Given the description of an element on the screen output the (x, y) to click on. 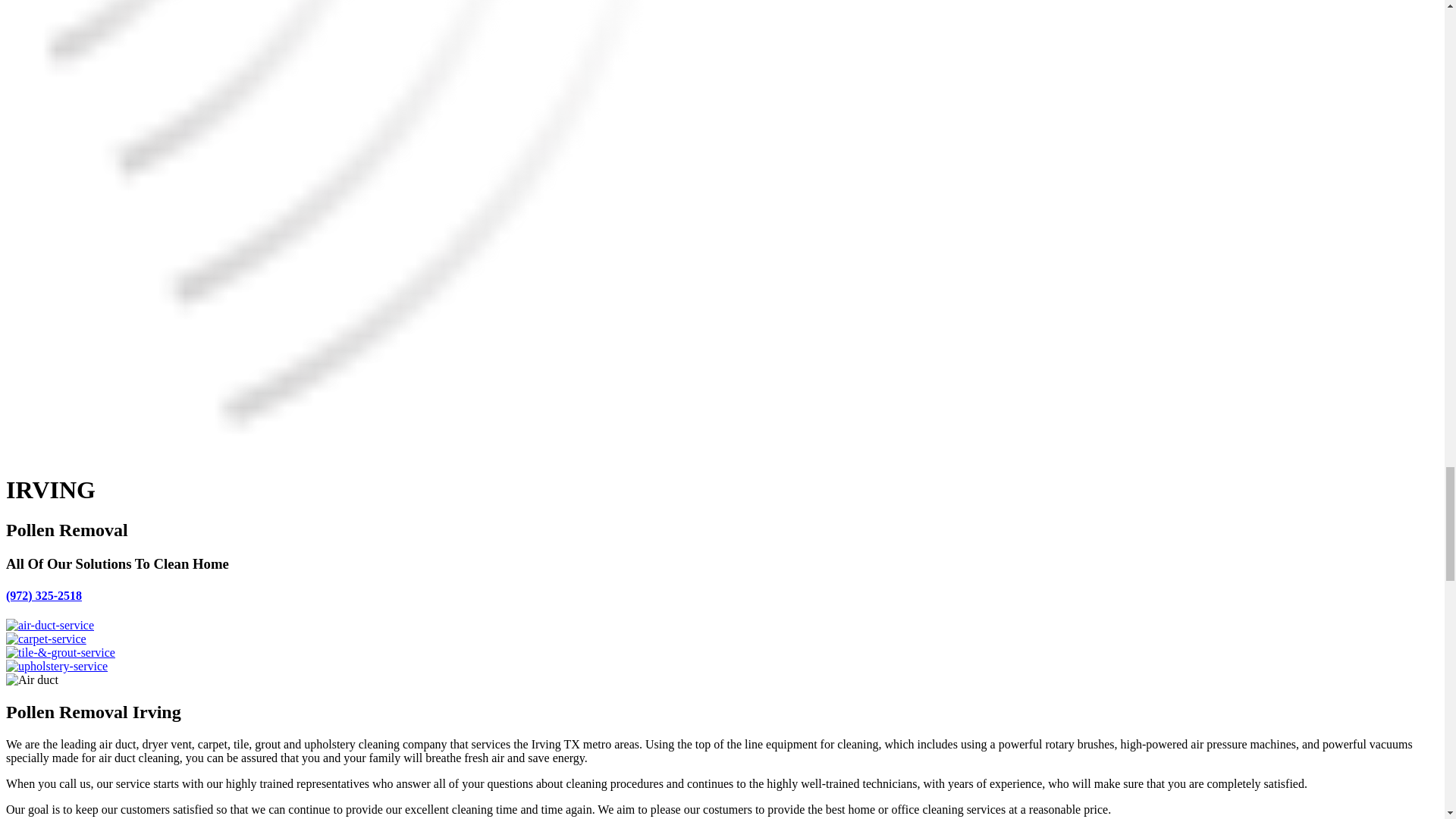
Air duct cleaning (31, 680)
carpet-cleaning (45, 639)
CALL US (43, 594)
air-duct-cleaning (49, 625)
upholstery-cleaning (56, 666)
